Given the description of an element on the screen output the (x, y) to click on. 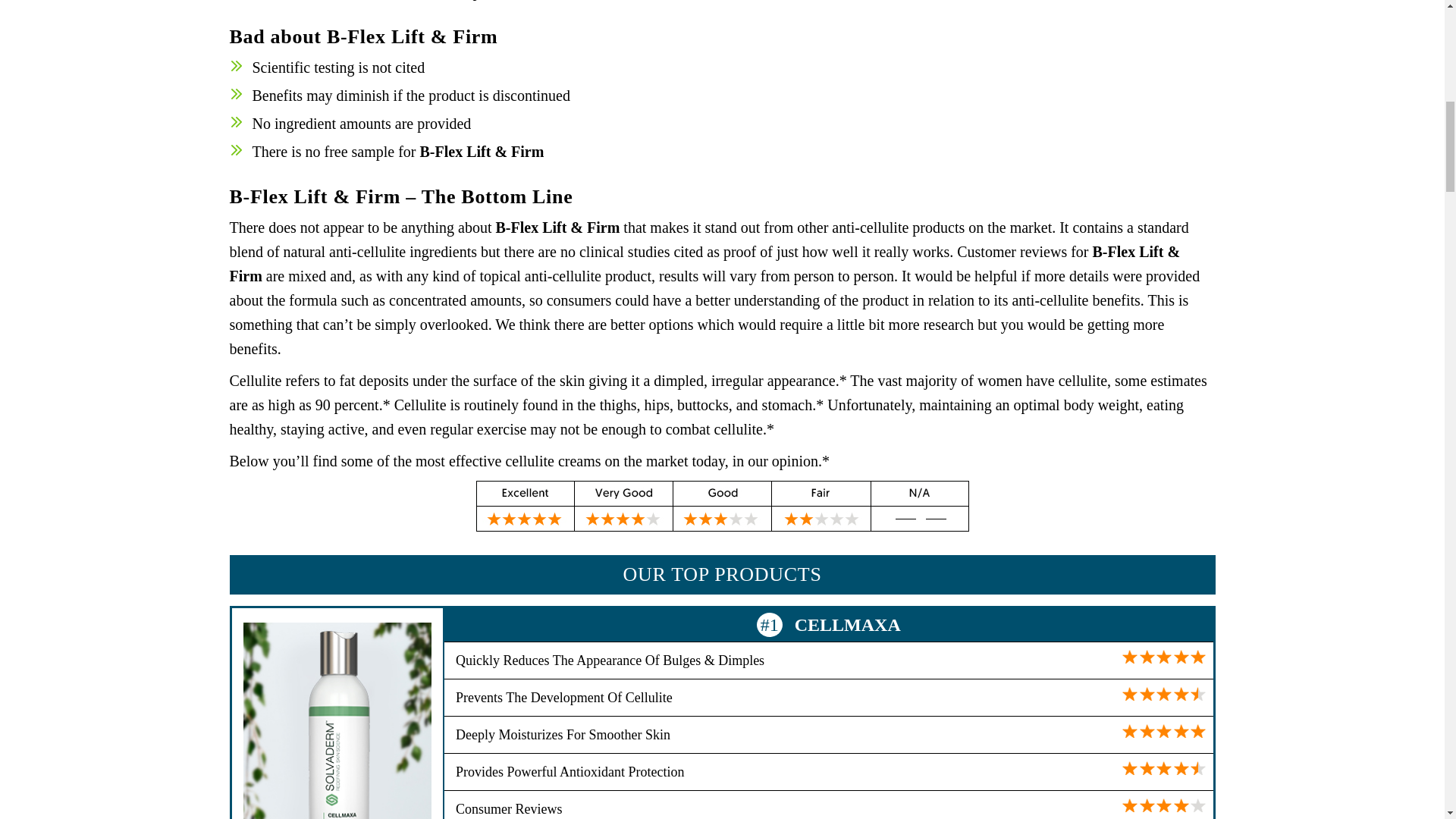
CELLMAXA (847, 624)
